Given the description of an element on the screen output the (x, y) to click on. 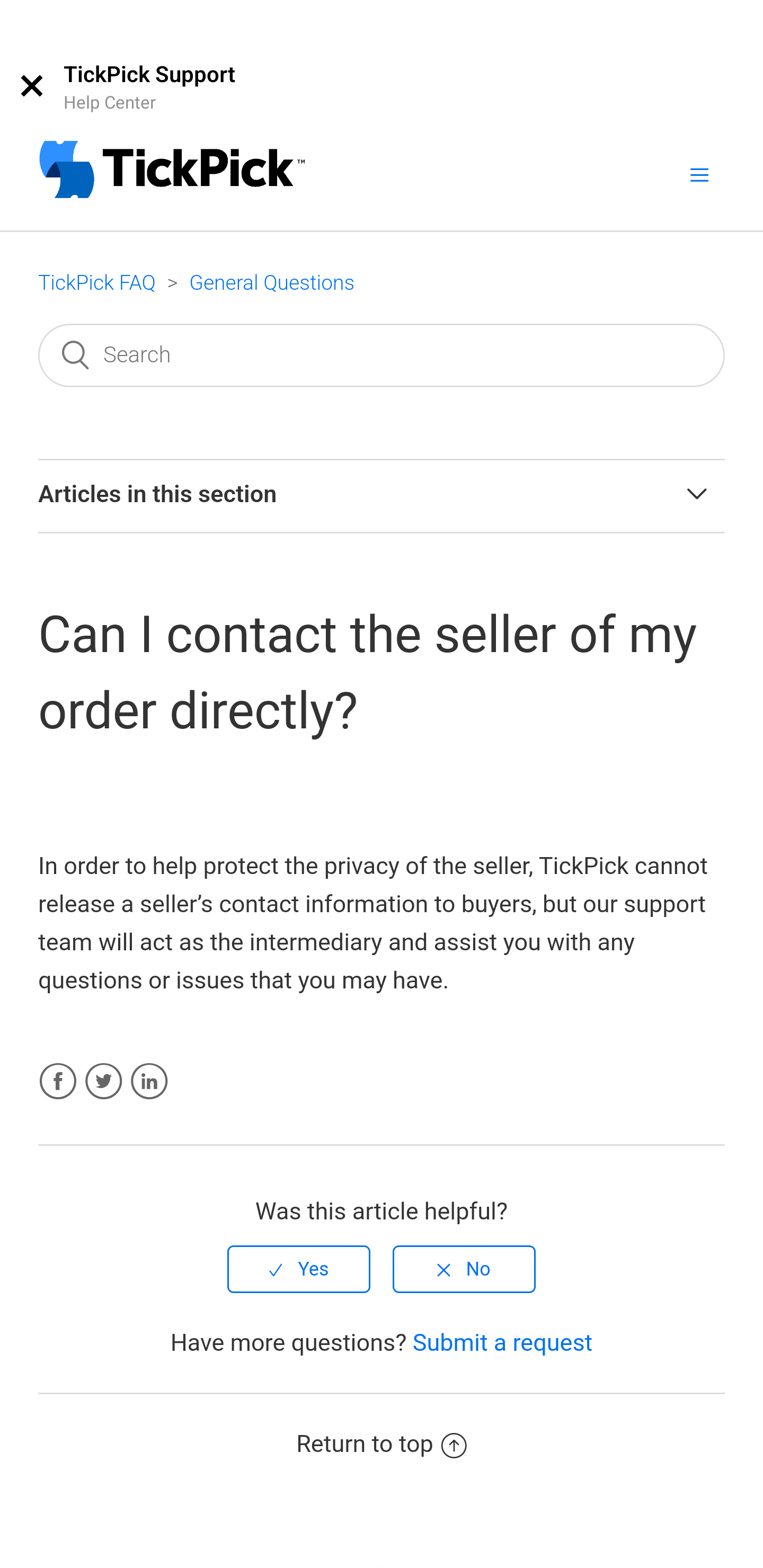
TickPick FAQ Help Center home page (171, 171)
Toggle navigation menu (698, 173)
TickPick FAQ (96, 282)
General Questions (272, 282)
 Facebook  Facebook (57, 1081)
 Twitter  Twitter (102, 1081)
 LinkedIn  LinkedIn (149, 1081)
How do I create a TickPick account? (381, 1224)
✓Yes (299, 1268)
✕No (462, 1268)
Submit a request (502, 1342)
Return to top⬆ Return to top ⬆ (381, 1441)
